Given the description of an element on the screen output the (x, y) to click on. 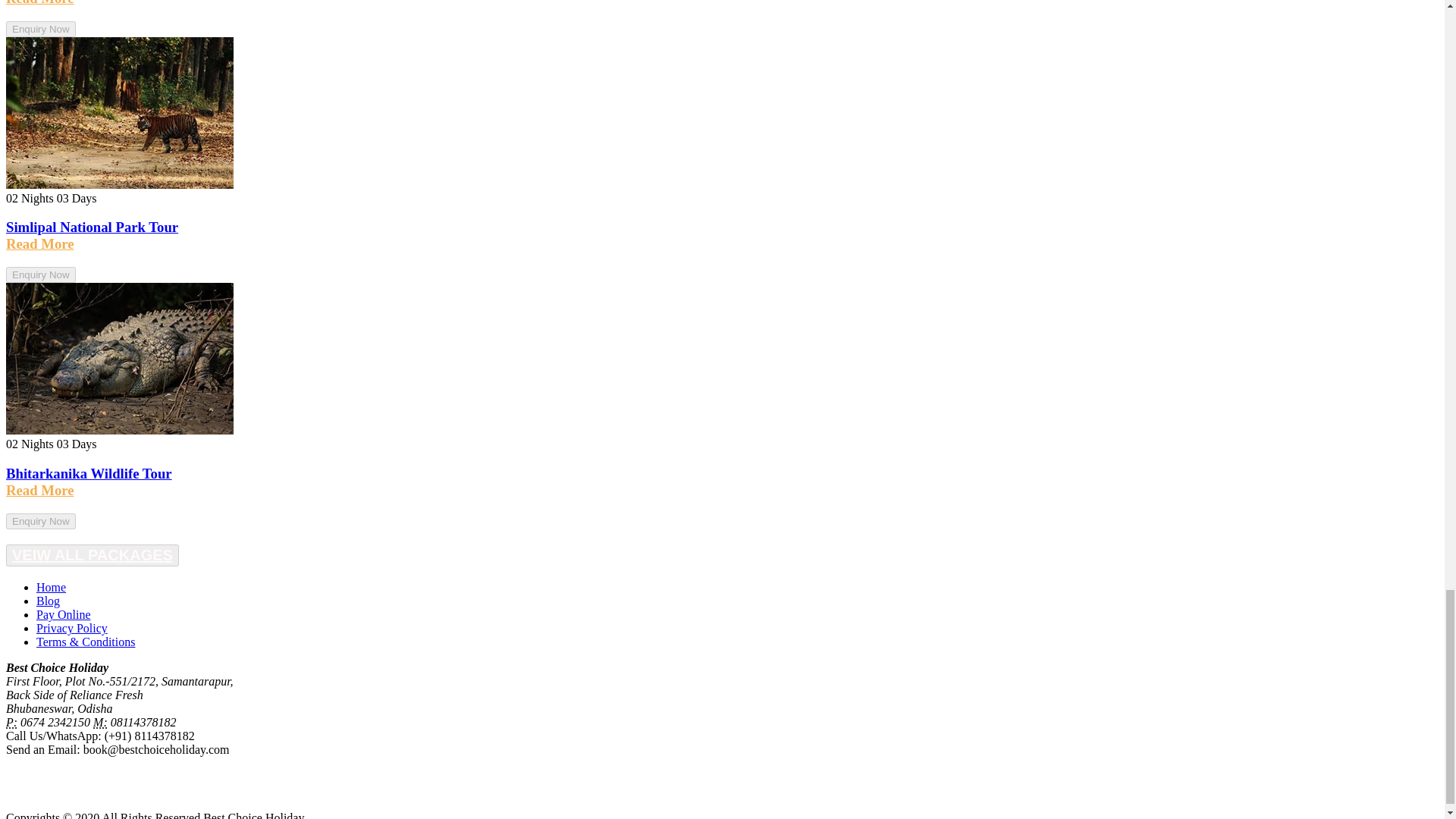
Phone (11, 721)
Phone (100, 721)
Read More (39, 2)
Enquiry Now (40, 28)
